Given the description of an element on the screen output the (x, y) to click on. 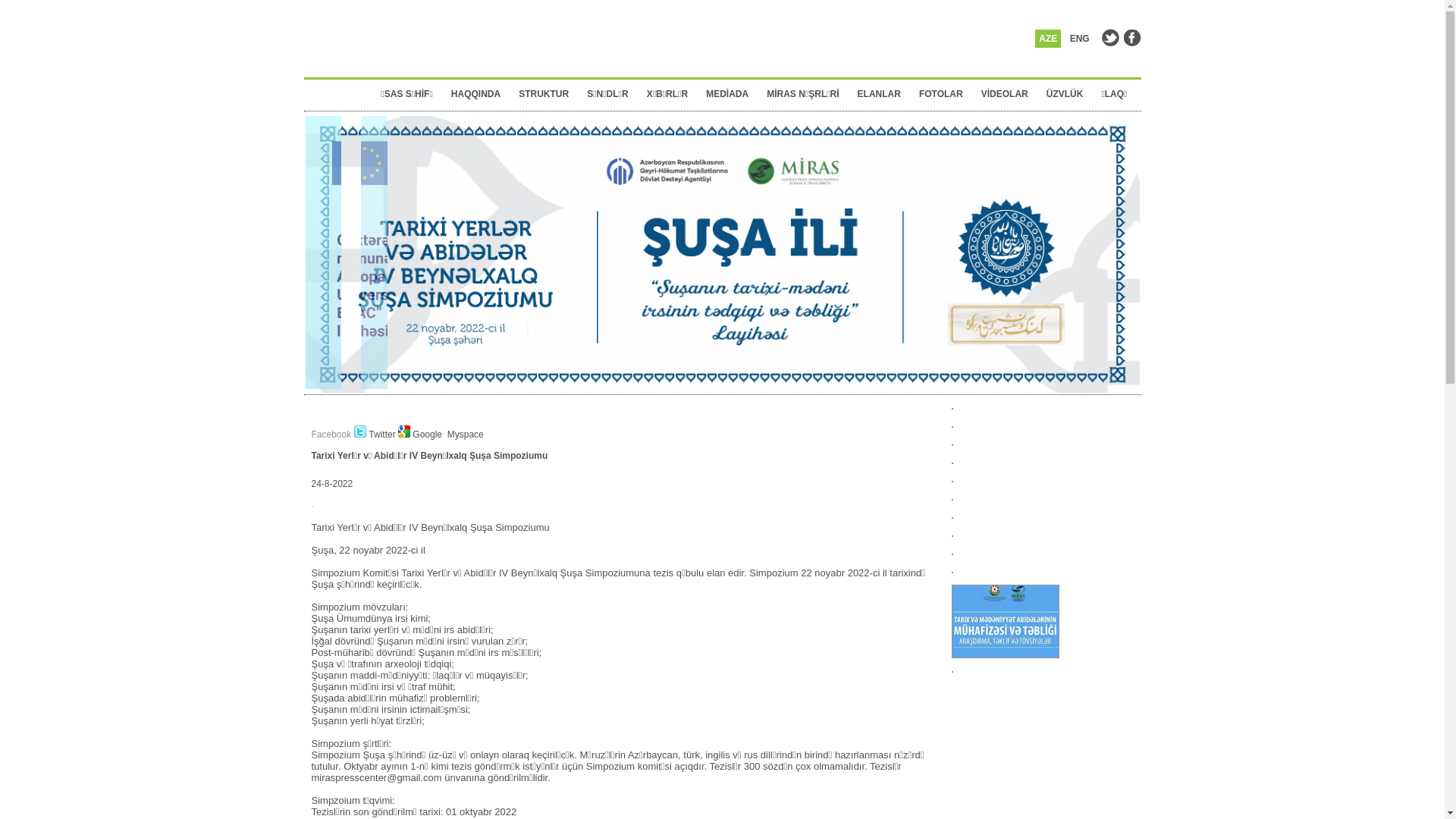
Google Element type: text (421, 434)
Twitter Element type: text (376, 434)
ENG Element type: text (1079, 38)
Next Element type: text (1127, 355)
HAQQINDA Element type: text (480, 93)
AZE Element type: text (1047, 38)
FOTOLAR Element type: text (945, 93)
Prev Element type: text (315, 355)
STRUKTUR Element type: text (547, 93)
ELANLAR Element type: text (883, 93)
Myspace Element type: text (463, 434)
